Given the description of an element on the screen output the (x, y) to click on. 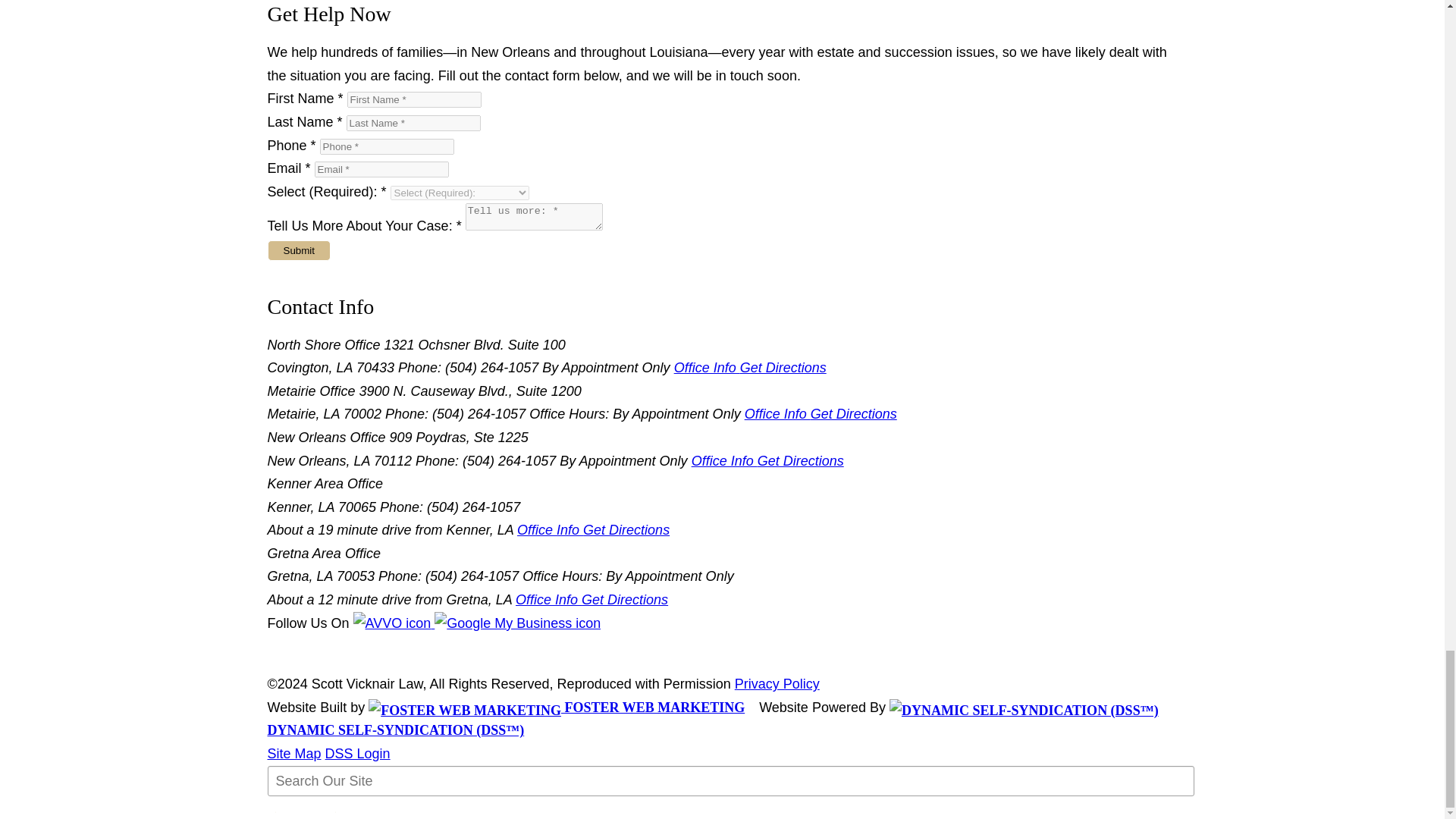
Search (304, 812)
